Given the description of an element on the screen output the (x, y) to click on. 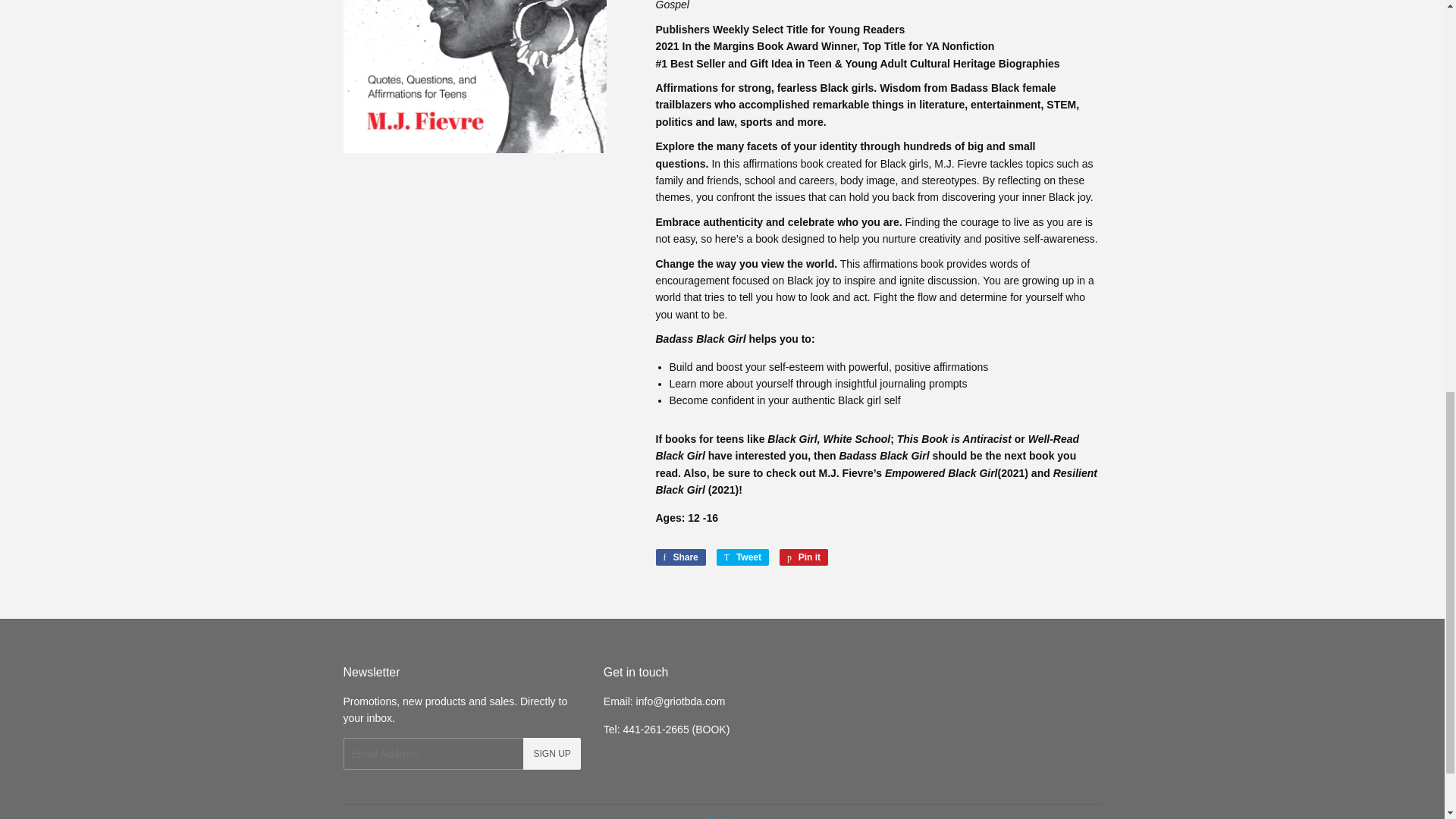
Share on Facebook (679, 556)
Pin on Pinterest (803, 556)
Tweet on Twitter (742, 556)
